Given the description of an element on the screen output the (x, y) to click on. 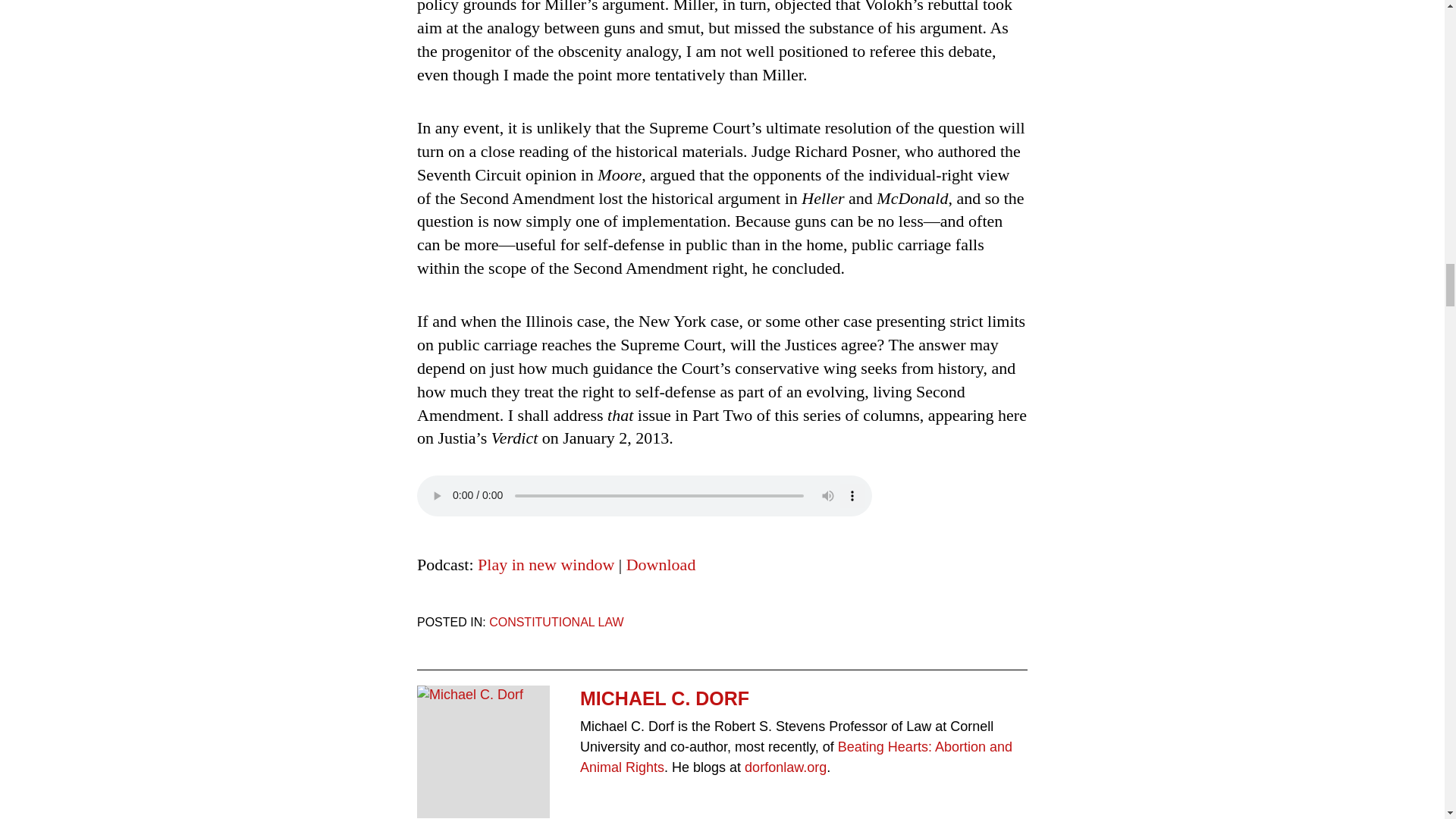
MICHAEL C. DORF (803, 698)
Download (660, 564)
Beating Hearts: Abortion and Animal Rights (795, 756)
Download (660, 564)
Play in new window (545, 564)
Play in new window (545, 564)
CONSTITUTIONAL LAW (556, 621)
View all posts in Constitutional Law (556, 621)
dorfonlaw.org (785, 767)
Michael C. Dorf (483, 694)
